Given the description of an element on the screen output the (x, y) to click on. 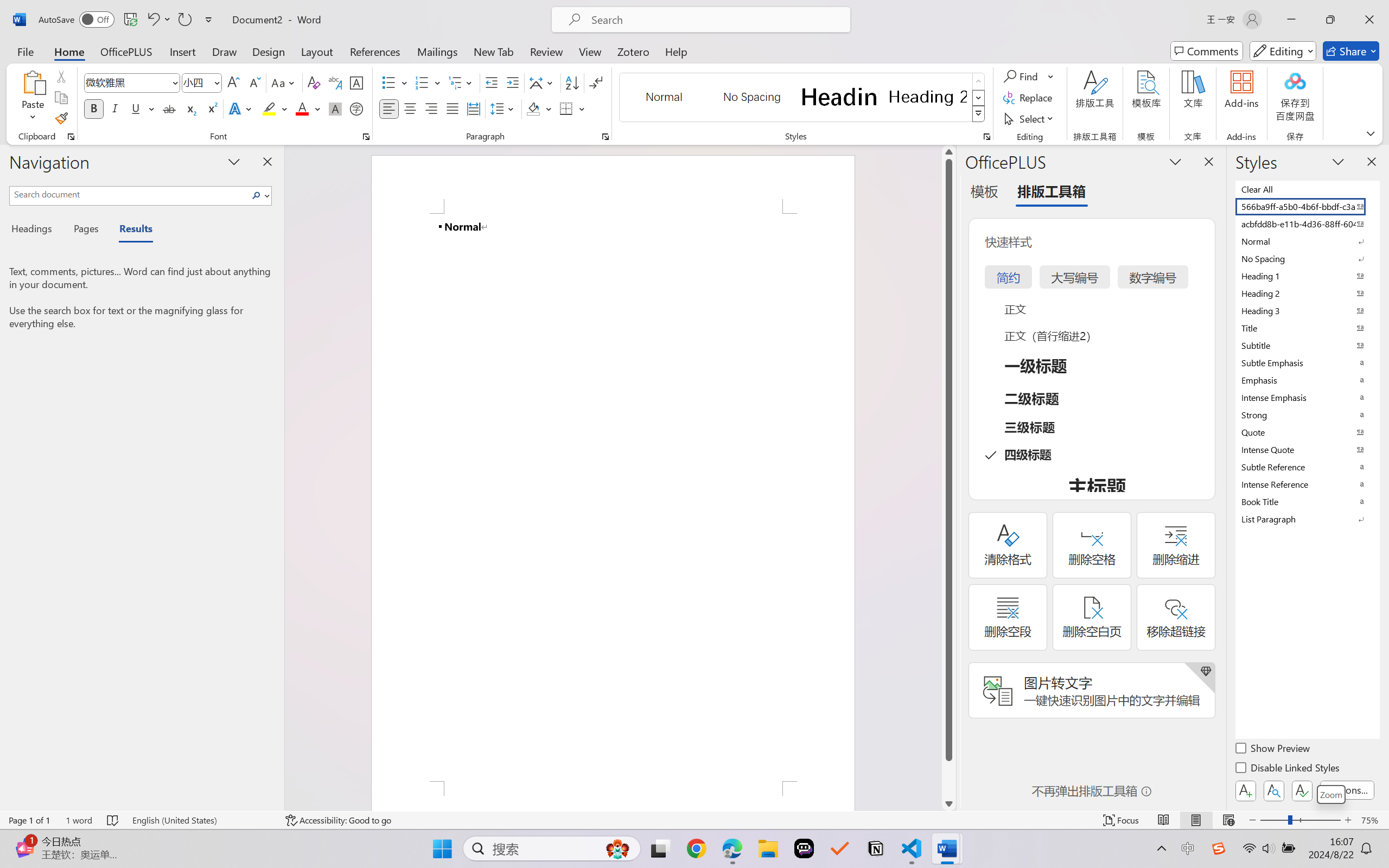
Bold (94, 108)
Home (69, 51)
Font Color Red (302, 108)
Underline (135, 108)
Show/Hide Editing Marks (595, 82)
Select (1030, 118)
Help (675, 51)
Zoom (1300, 819)
acbfdd8b-e11b-4d36-88ff-6049b138f862 (1306, 223)
Sort... (571, 82)
Center (409, 108)
AutomationID: QuickStylesGallery (802, 97)
